Given the description of an element on the screen output the (x, y) to click on. 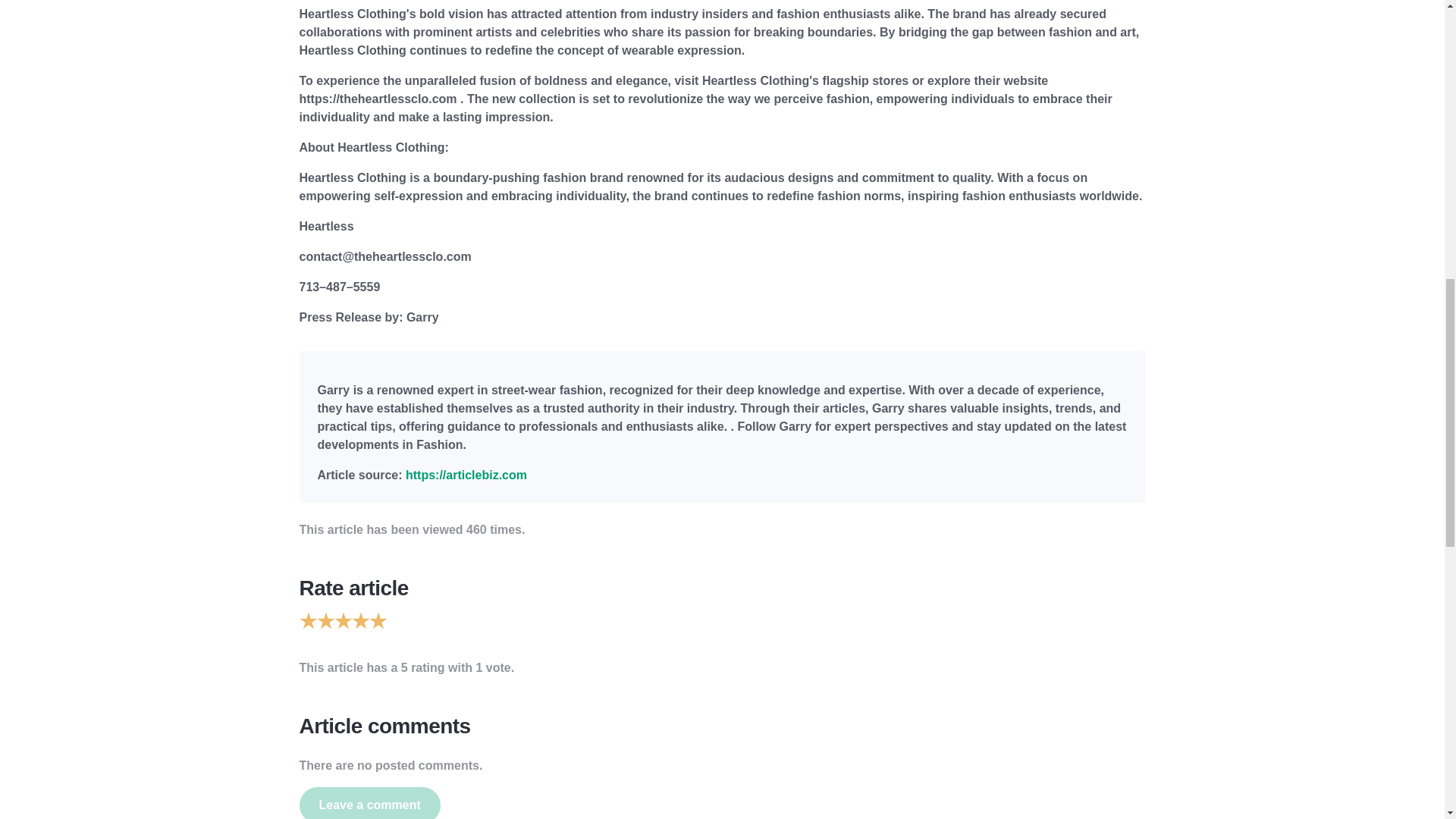
Leave a comment (368, 803)
